Given the description of an element on the screen output the (x, y) to click on. 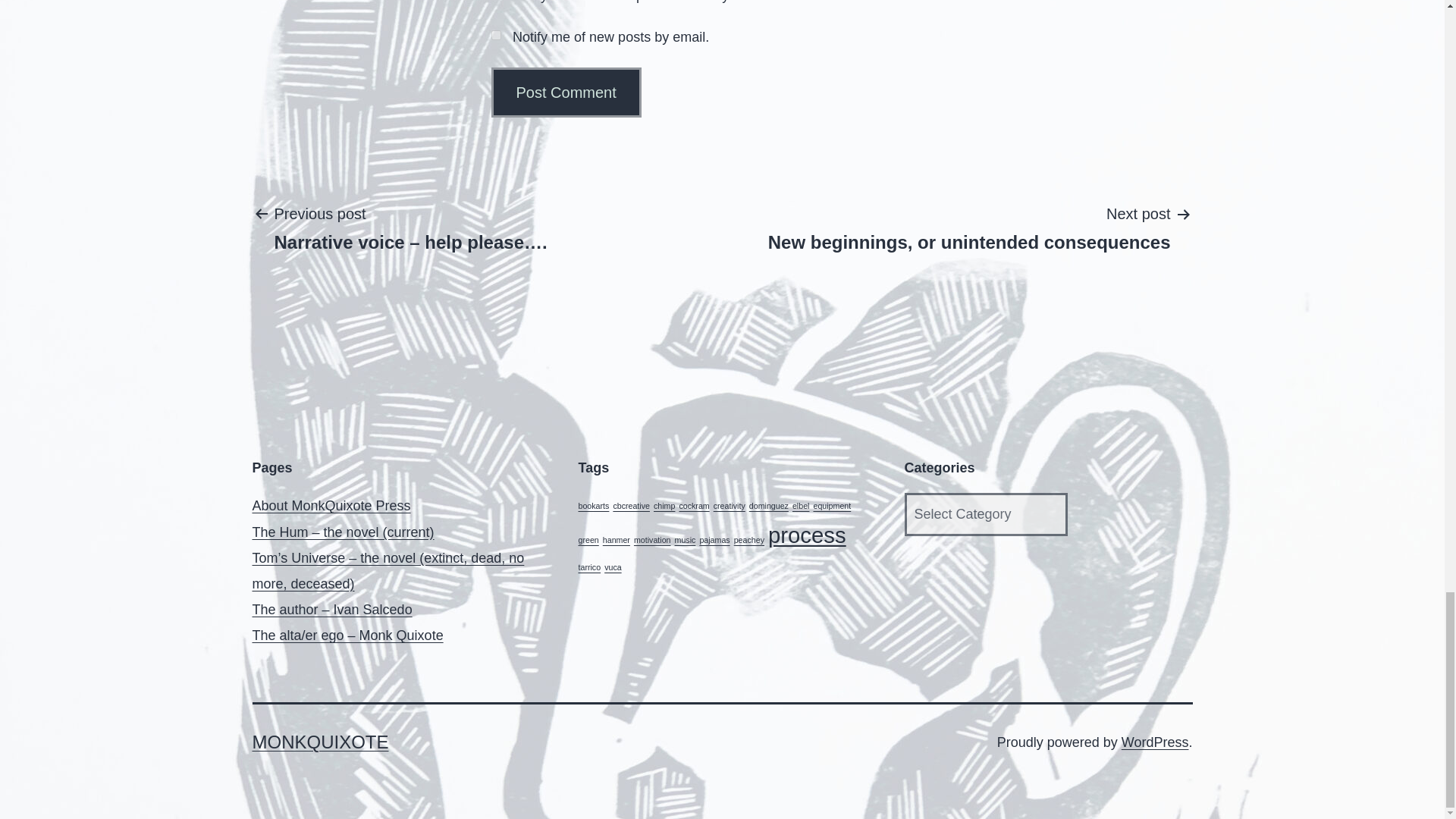
chimp (664, 505)
About MonkQuixote Press (968, 226)
bookarts (330, 505)
music (593, 505)
WordPress (685, 539)
subscribe (1155, 742)
tarrico (693, 505)
hanmer (588, 566)
Post Comment (616, 539)
cbcreative (567, 92)
green (630, 505)
pajamas (588, 539)
motivation (713, 539)
